Given the description of an element on the screen output the (x, y) to click on. 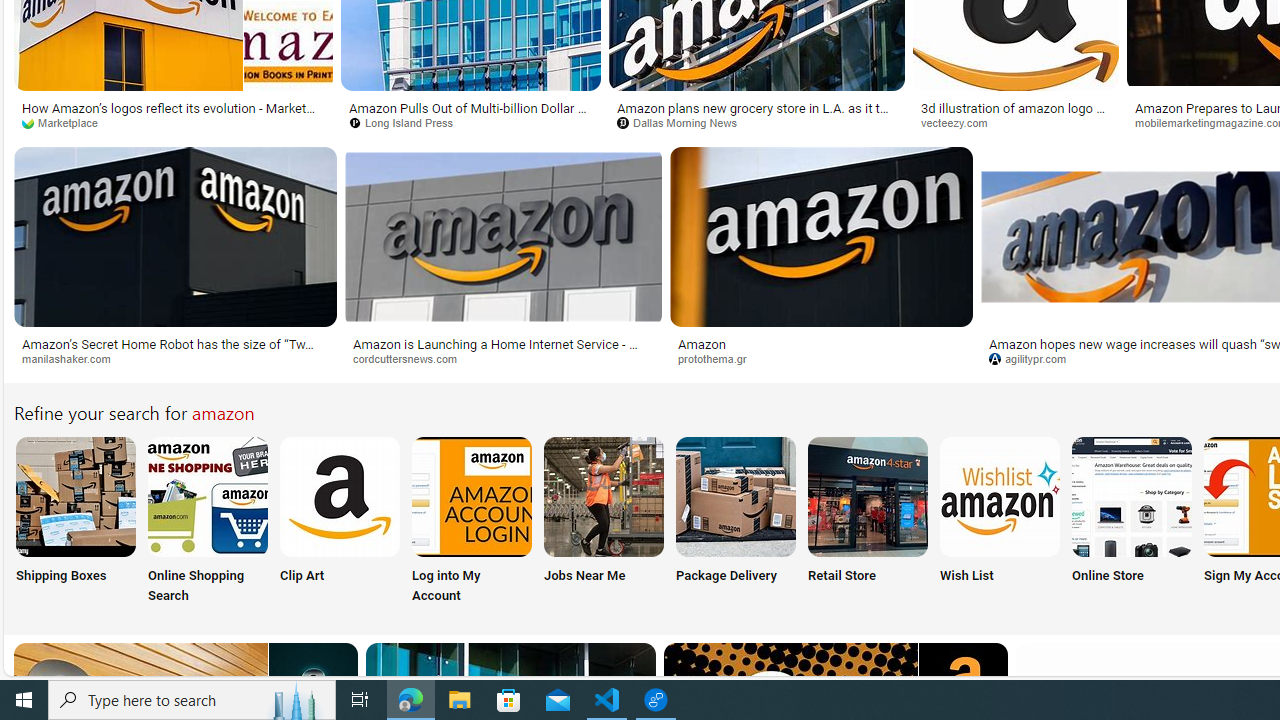
3d illustration of amazon logo 18779928 PNG (1015, 114)
Amazon Online Store (1131, 496)
Long Island Press (470, 123)
manilashaker.com (73, 358)
Image result for amazon (820, 236)
protothema.gr (821, 359)
Amazon Online Shopping Search Online Shopping Search (207, 521)
Amazon Jobs Near Me Jobs Near Me (604, 521)
agilitypr.com (1035, 358)
Jobs Near Me (604, 521)
Log into My Account (472, 521)
